Given the description of an element on the screen output the (x, y) to click on. 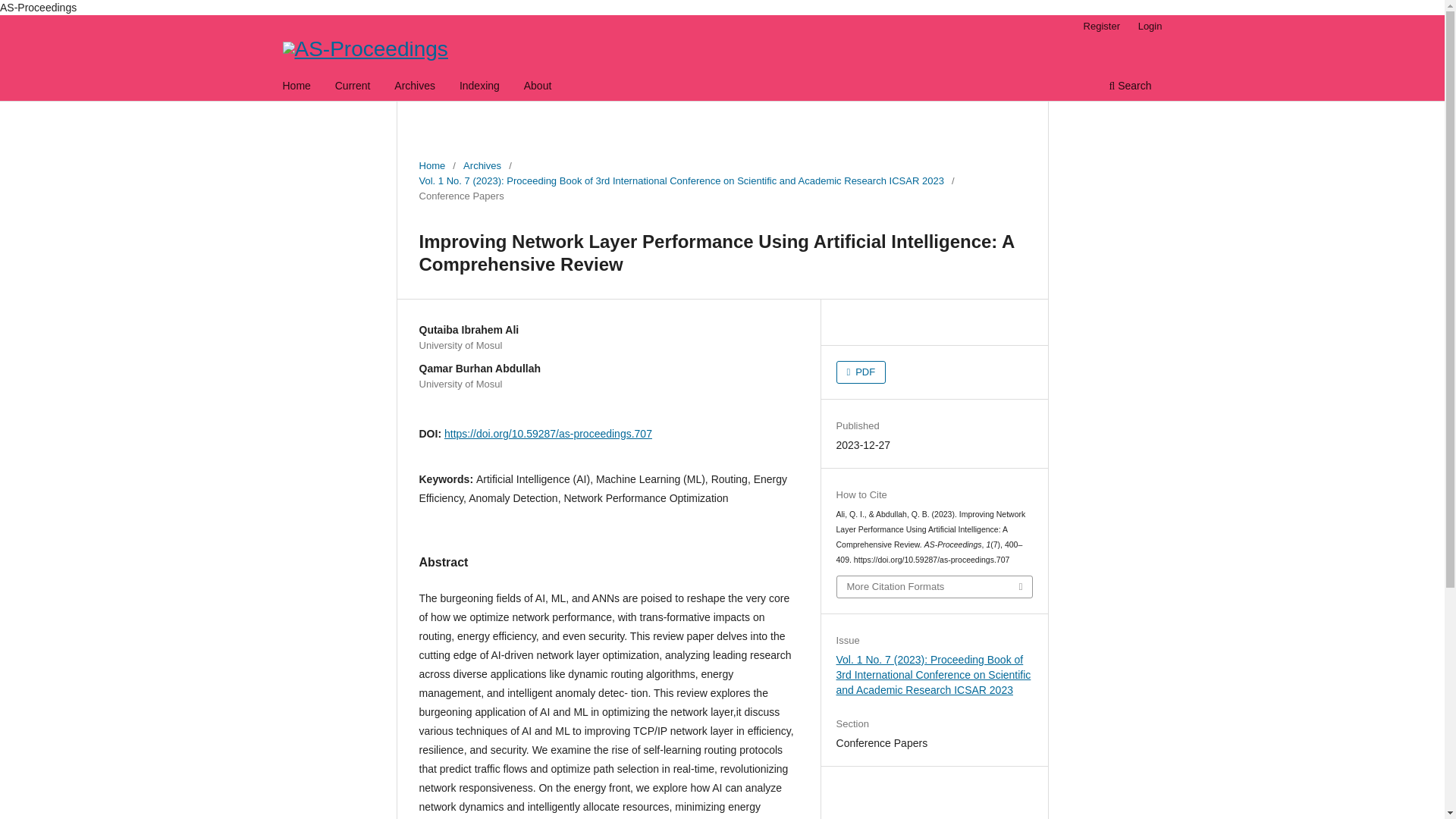
Home (432, 165)
Current (352, 87)
About (537, 87)
More Citation Formats (934, 586)
Archives (481, 165)
Search (1129, 87)
Login (1150, 26)
Archives (414, 87)
Register (1100, 26)
PDF (860, 372)
